Given the description of an element on the screen output the (x, y) to click on. 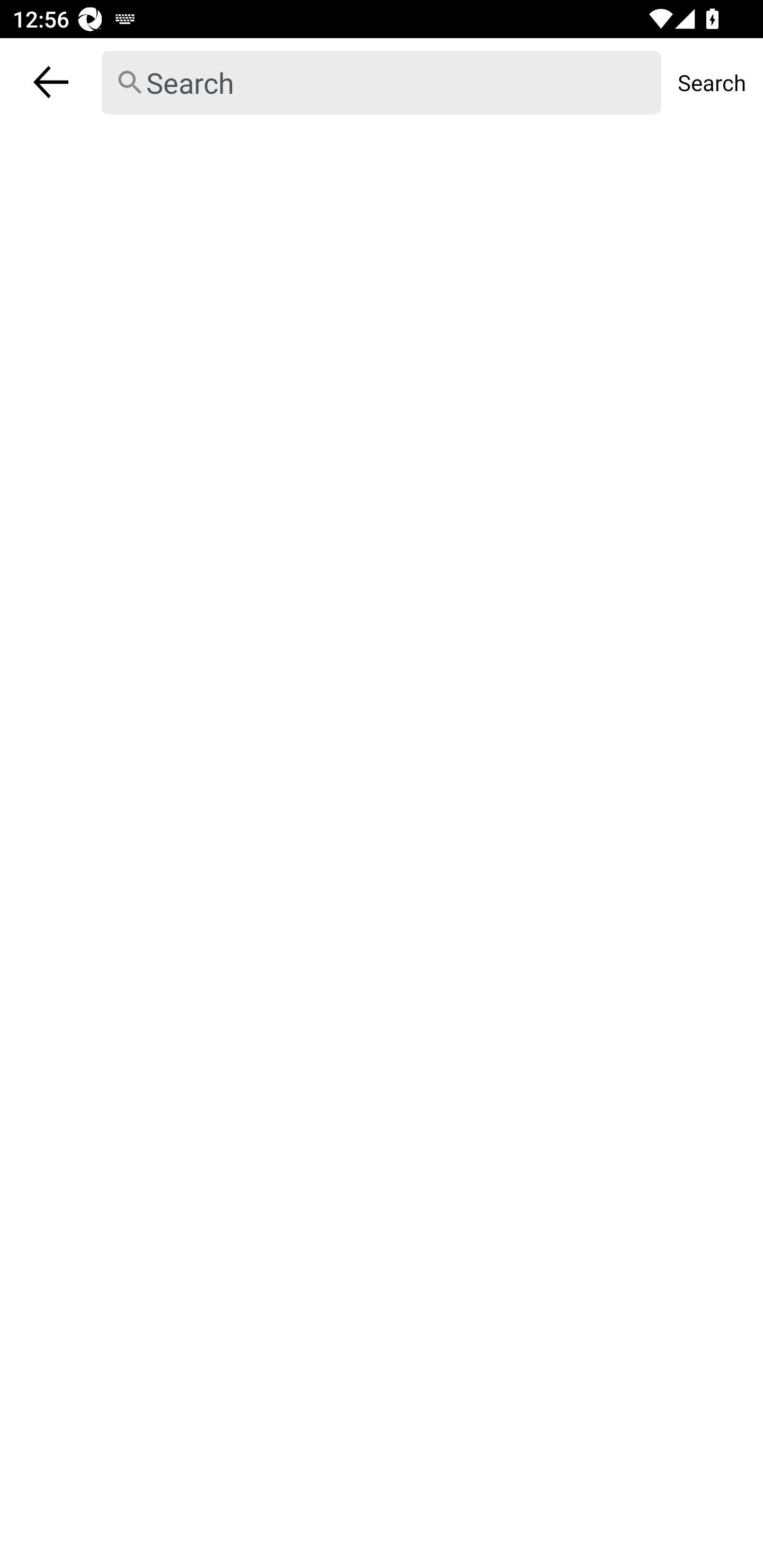
close (50, 81)
search Search (381, 82)
Search (381, 82)
Search (711, 82)
